Given the description of an element on the screen output the (x, y) to click on. 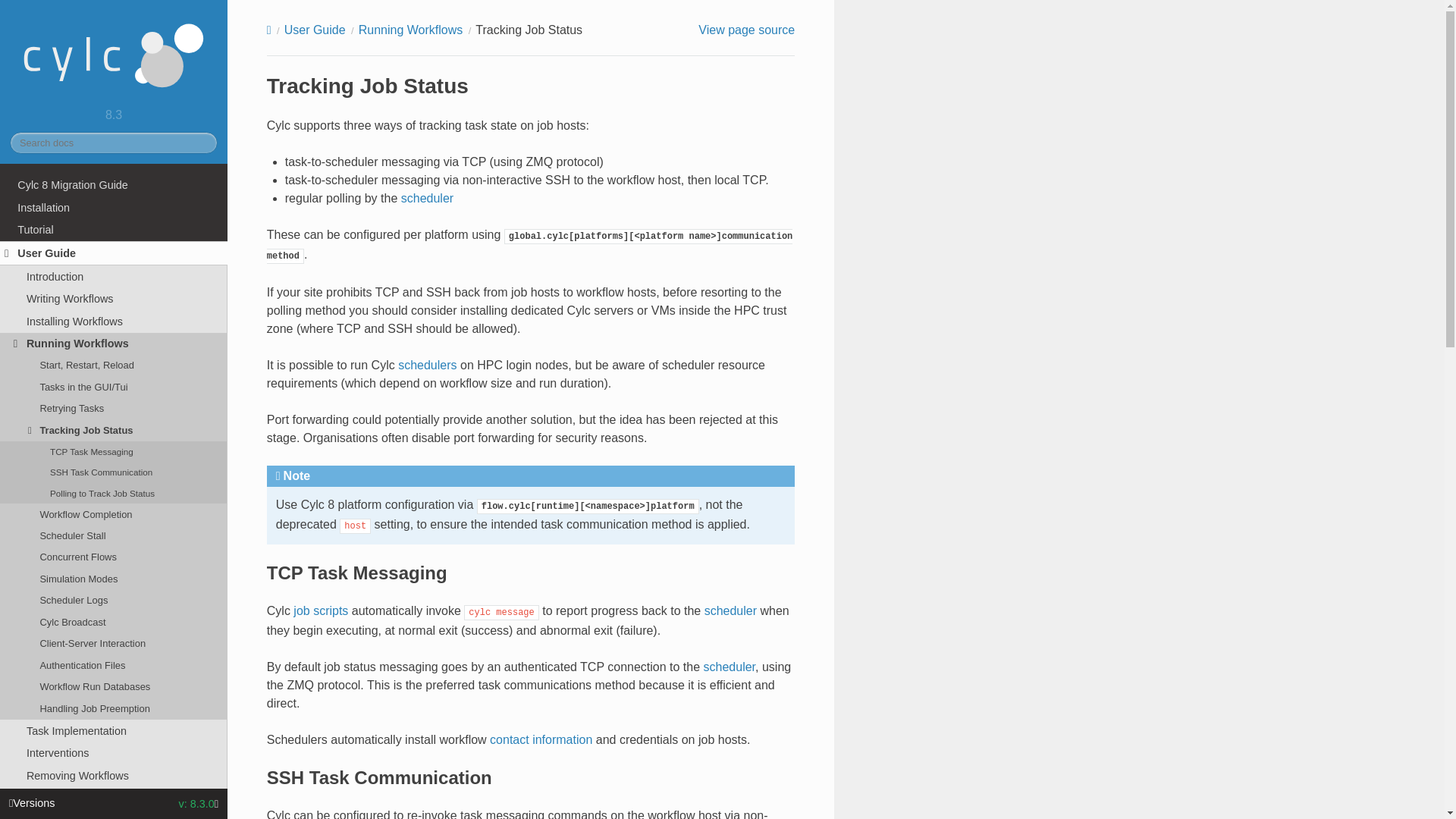
Cylc 8 Migration Guide (113, 184)
Workflow Run Databases (113, 686)
Tracking Job Status (113, 430)
Cheat Sheet (113, 798)
Scheduler Stall (113, 536)
SSH Task Communication (113, 472)
Removing Workflows (113, 775)
Handling Job Preemption (113, 708)
Cylc Broadcast (113, 622)
TCP Task Messaging (113, 451)
